Given the description of an element on the screen output the (x, y) to click on. 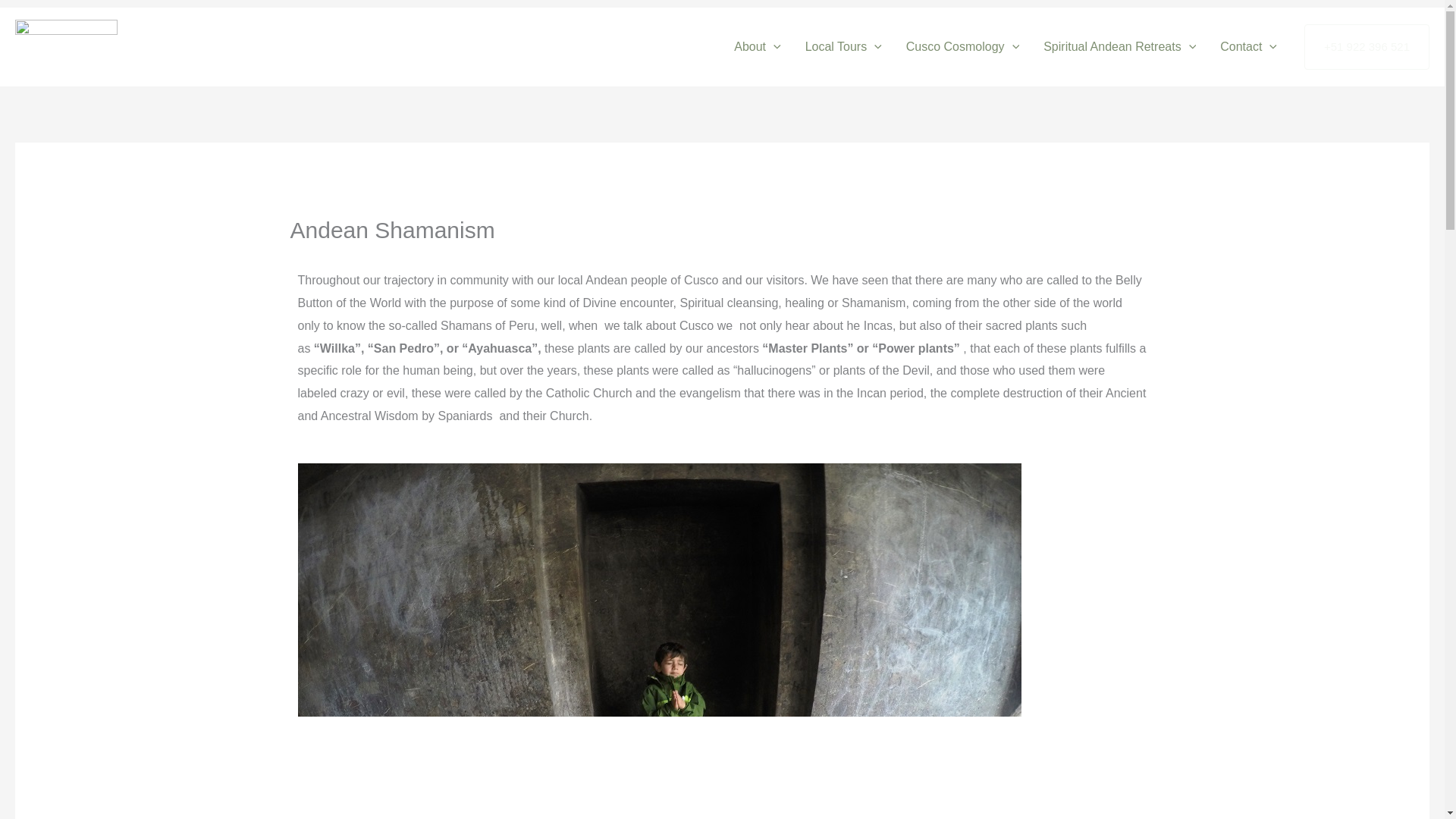
Contact (1248, 46)
Local Tours (843, 46)
Cusco Cosmology (961, 46)
Spiritual Andean Retreats (1119, 46)
About (757, 46)
